Given the description of an element on the screen output the (x, y) to click on. 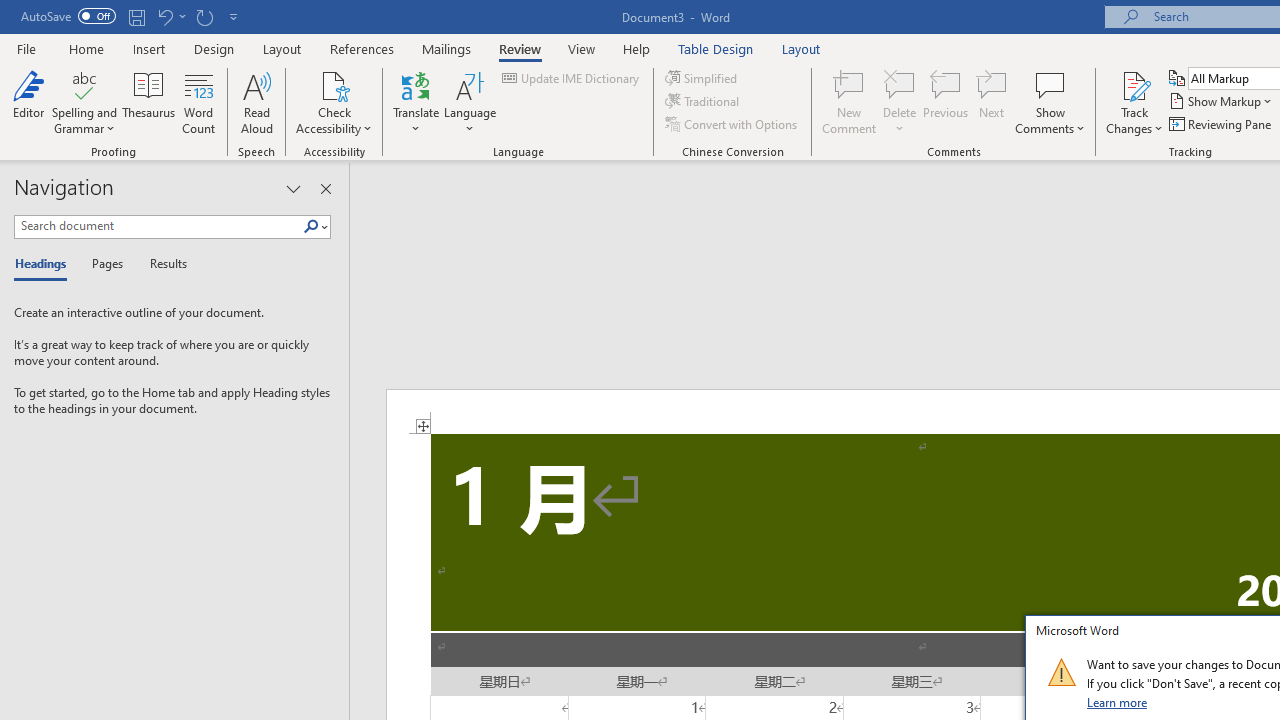
Traditional (703, 101)
Thesaurus... (148, 102)
Update IME Dictionary... (572, 78)
Previous (946, 102)
Simplified (702, 78)
Next (991, 102)
Reviewing Pane (1221, 124)
Delete (900, 84)
Show Comments (1050, 84)
